Given the description of an element on the screen output the (x, y) to click on. 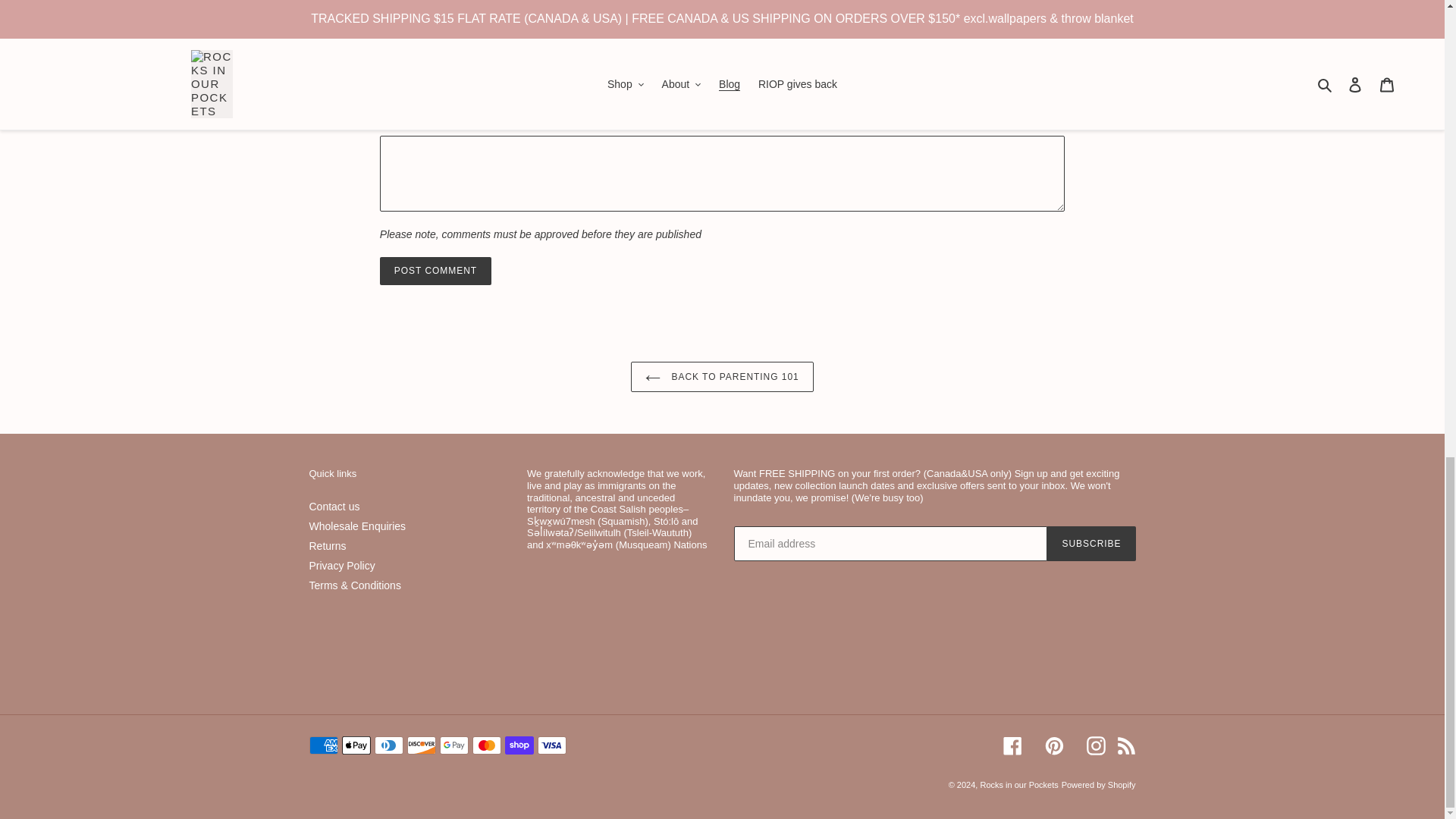
Visa (551, 745)
Discover (420, 745)
American Express (322, 745)
Apple Pay (354, 745)
Google Pay (453, 745)
Shop Pay (519, 745)
Mastercard (485, 745)
Post comment (436, 270)
Diners Club (388, 745)
